Given the description of an element on the screen output the (x, y) to click on. 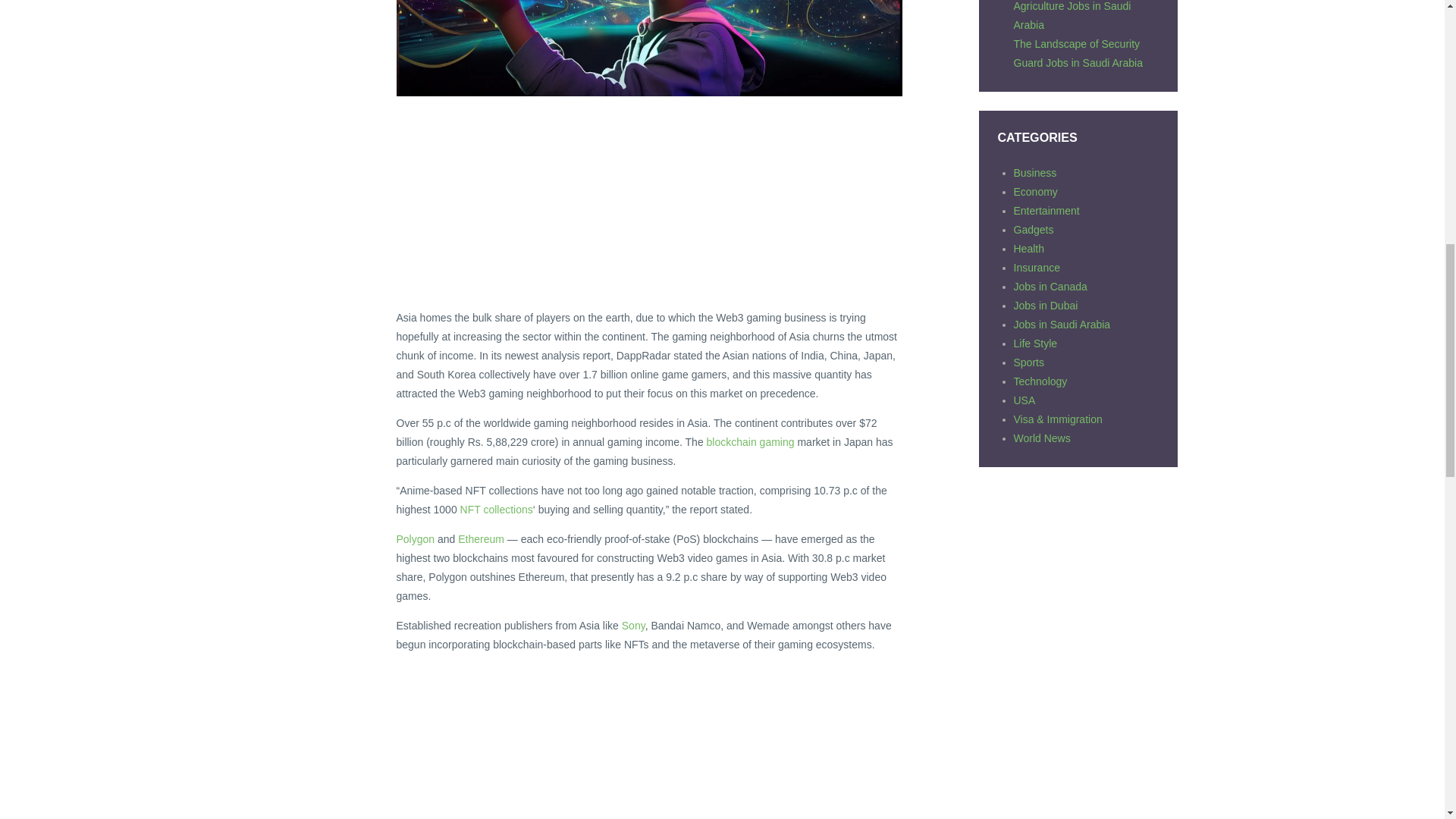
The Evolution and Future of Agriculture Jobs in Saudi Arabia (1078, 15)
Sony (633, 625)
Polygon (414, 539)
The Landscape of Security Guard Jobs in Saudi Arabia (1077, 52)
blockchain gaming (750, 441)
Ethereum (480, 539)
NFT collections (496, 509)
